Given the description of an element on the screen output the (x, y) to click on. 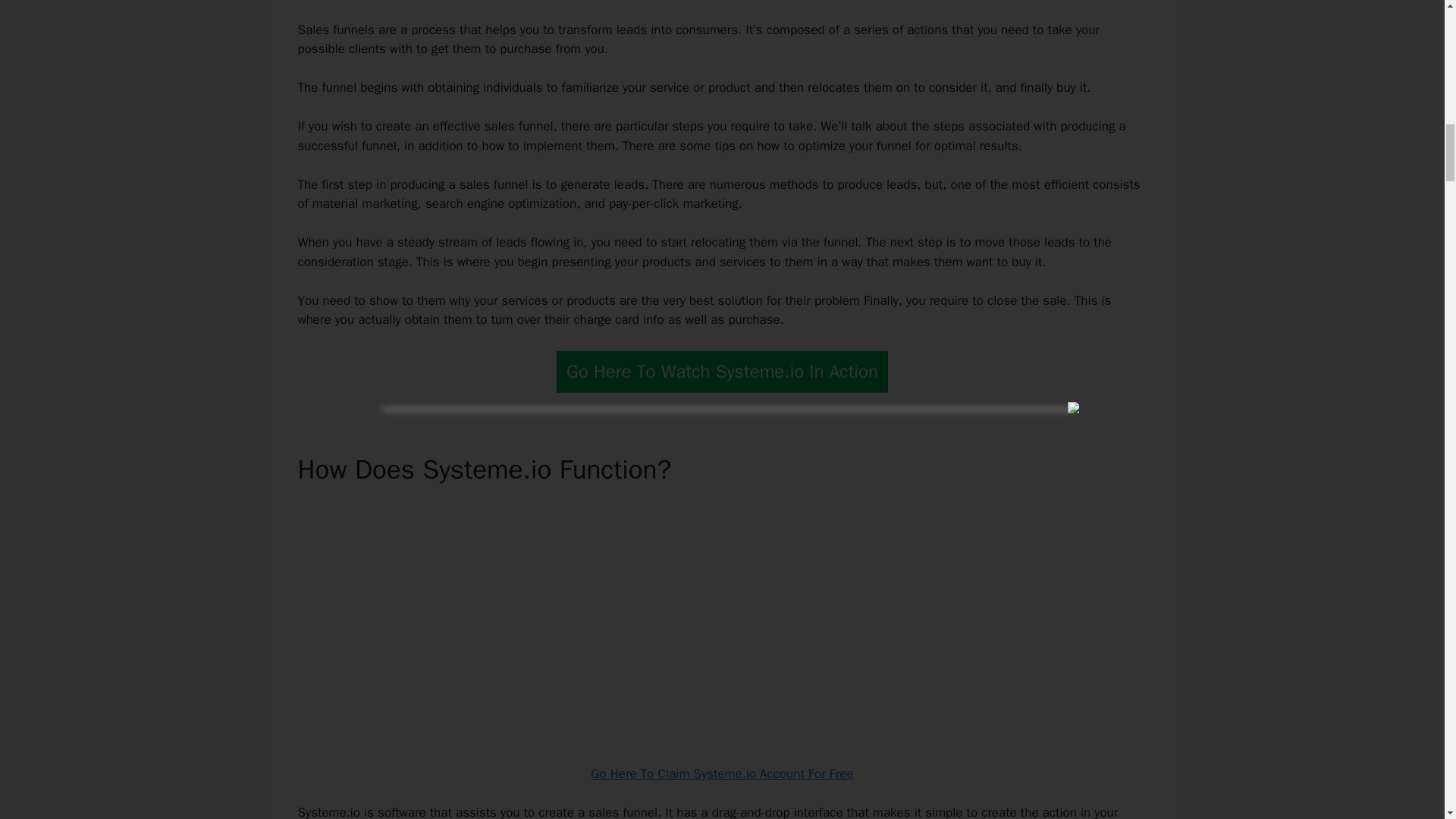
Go Here To Watch Systeme.io In Action (722, 372)
YouTube video player (721, 619)
Go Here To Claim Systeme.io Account For Free (722, 773)
